Given the description of an element on the screen output the (x, y) to click on. 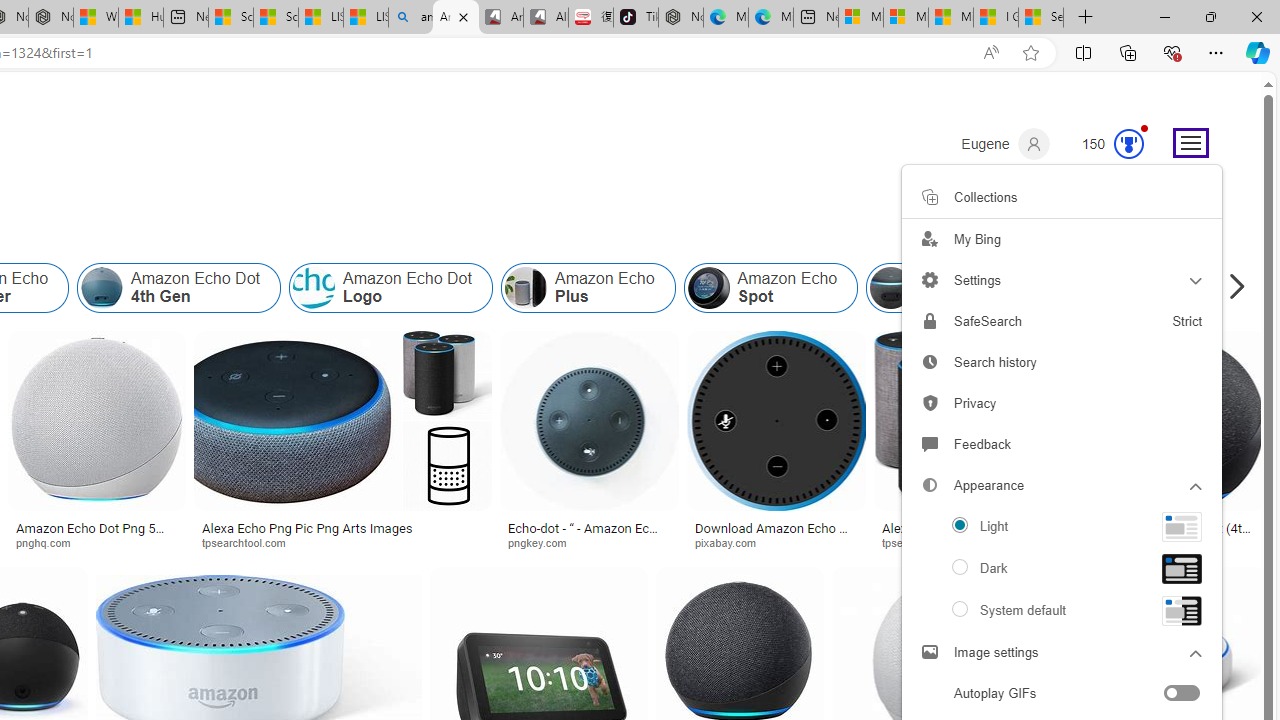
Appearance (1062, 569)
I Gained 20 Pounds of Muscle in 30 Days! | Watch (995, 17)
tpsearchtool.com (976, 542)
Amazon Echo Spot (708, 287)
pngkey.com (544, 541)
Amazon Echo Dot Logo (390, 287)
Filter (1173, 189)
TikTok (635, 17)
Microsoft Rewards 147 (1105, 143)
tpsearchtool.com (930, 541)
SafeSearch Strict (1062, 321)
Amazon Echo Dot 4th Gen (102, 287)
croma.com (1128, 541)
